Given the description of an element on the screen output the (x, y) to click on. 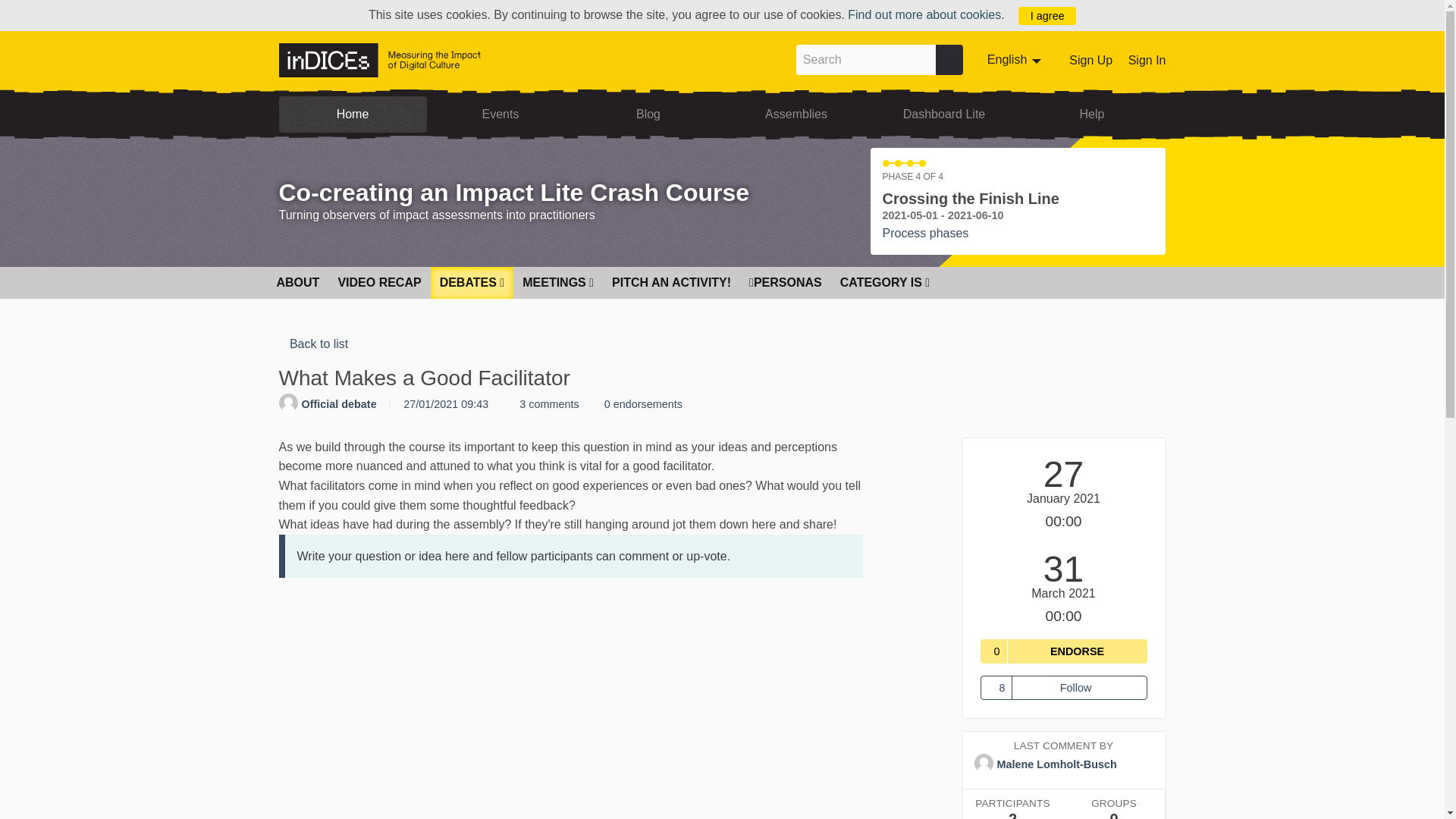
Sign Up (1090, 60)
3 comments (544, 404)
ABOUT (297, 282)
Process phases (925, 232)
I agree (1046, 15)
Events (499, 114)
endorsements (639, 404)
Dashboard Lite (1016, 59)
